Given the description of an element on the screen output the (x, y) to click on. 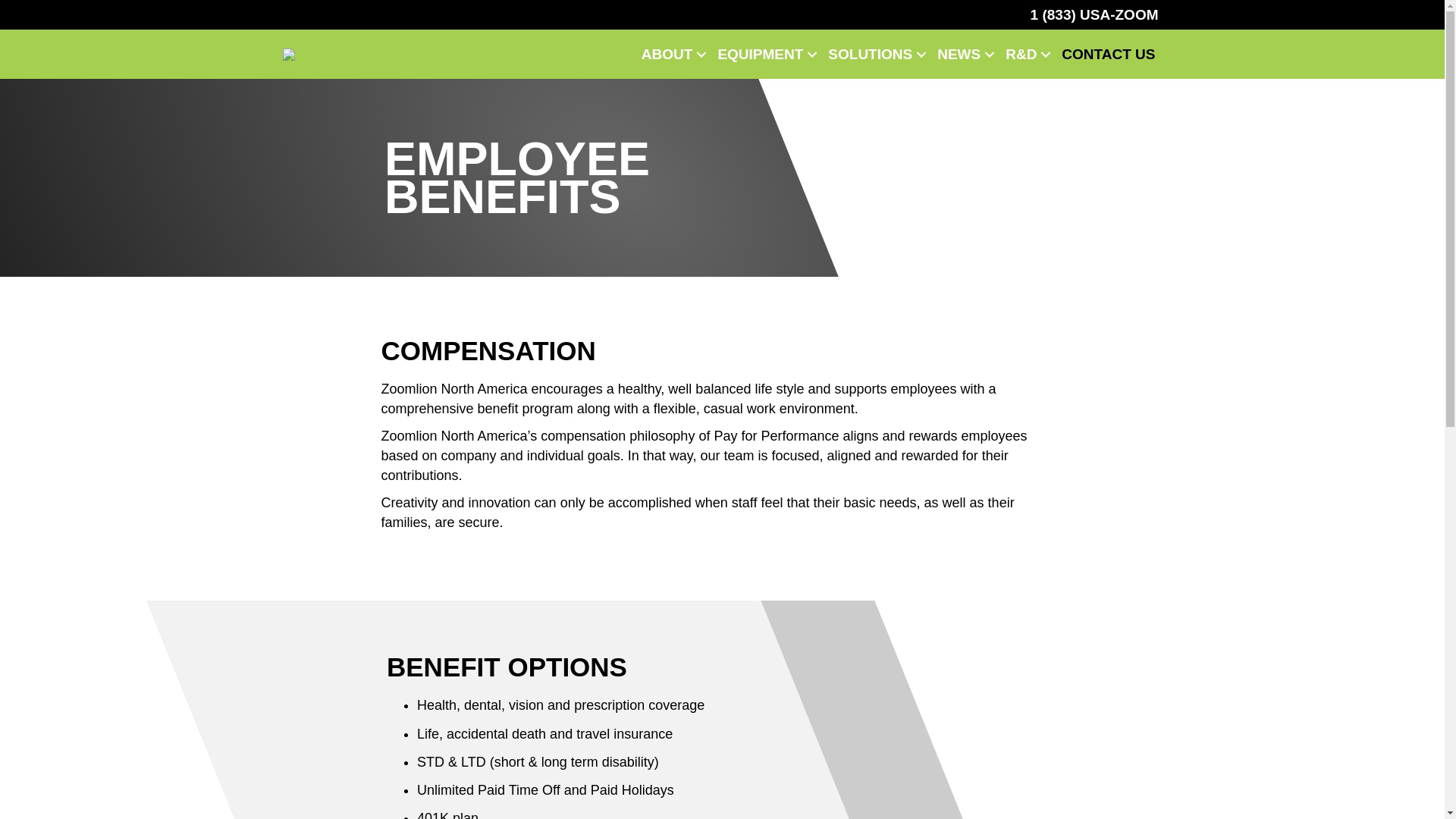
logo-zoomlion (339, 54)
ABOUT (672, 53)
EQUIPMENT (765, 53)
CONTACT US (1107, 53)
SOLUTIONS (875, 53)
NEWS (963, 53)
